Given the description of an element on the screen output the (x, y) to click on. 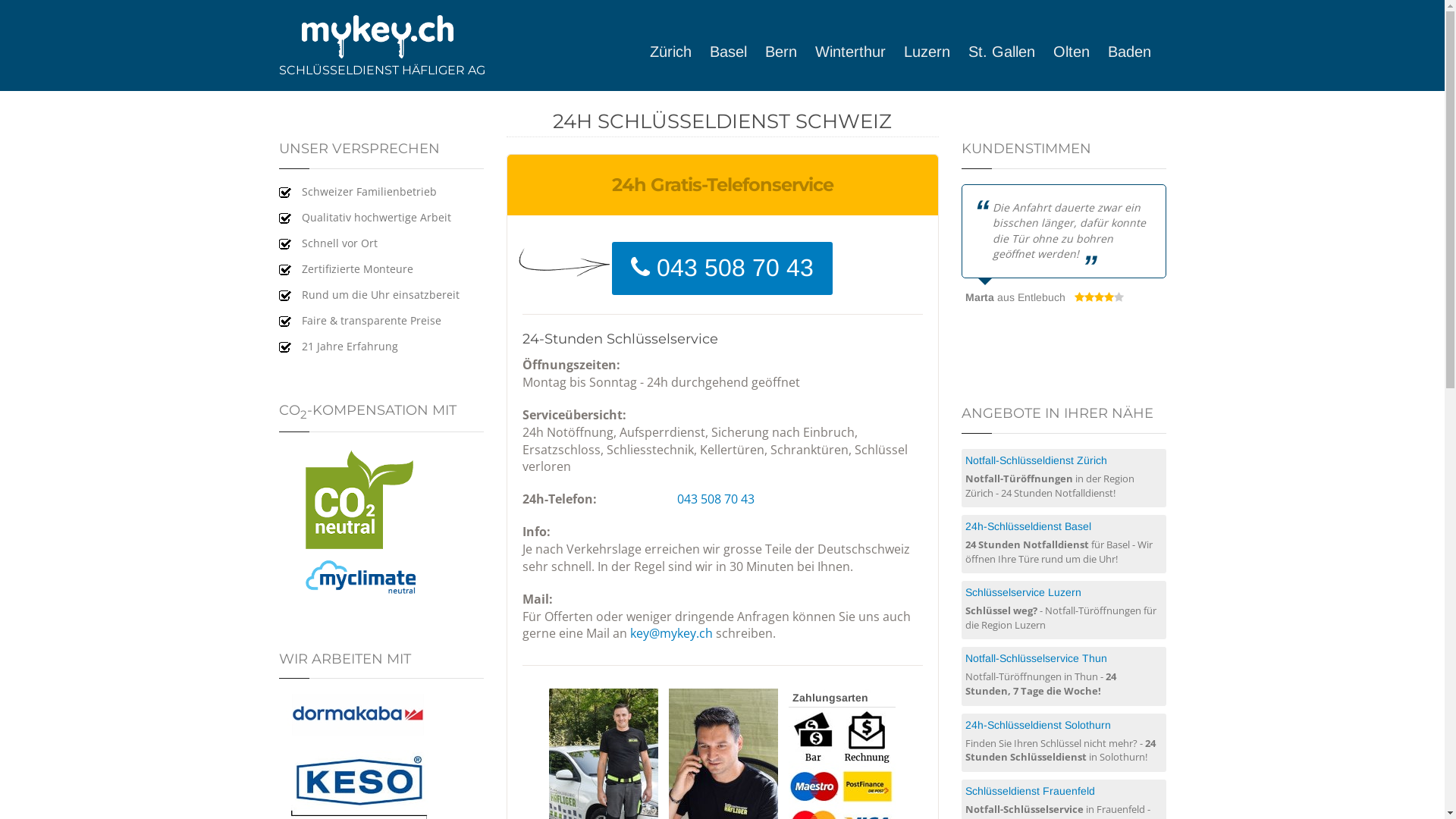
Winterthur Element type: text (857, 51)
043 508 70 43 Element type: text (734, 267)
St. Gallen Element type: text (1008, 51)
Baden Element type: text (1136, 51)
Bern Element type: text (787, 51)
Olten Element type: text (1078, 51)
Luzern Element type: text (934, 51)
043 508 70 43 Element type: text (714, 498)
key@mykey.ch Element type: text (670, 632)
Basel Element type: text (735, 51)
